Given the description of an element on the screen output the (x, y) to click on. 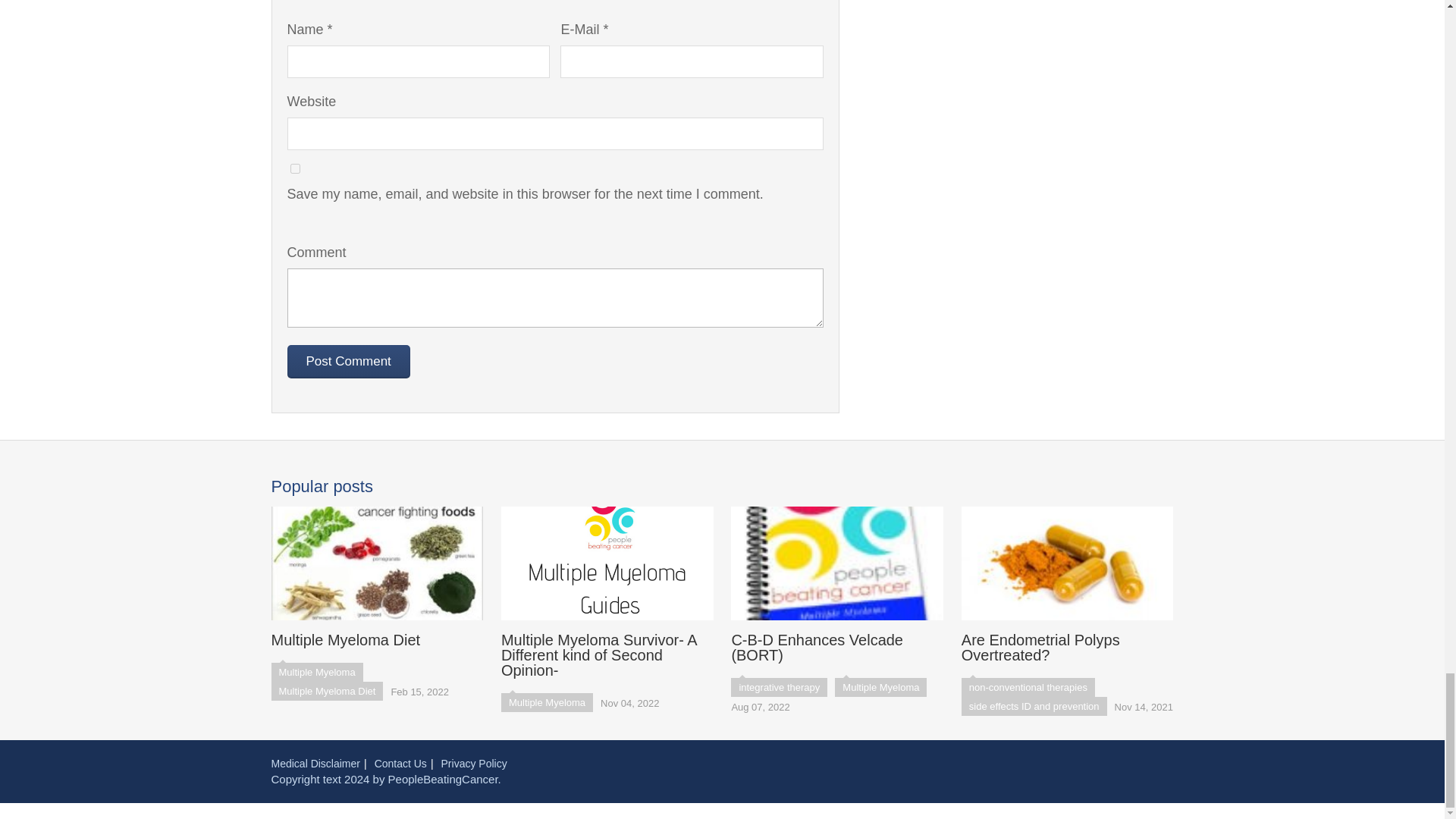
yes (294, 168)
Post Comment (347, 361)
